Given the description of an element on the screen output the (x, y) to click on. 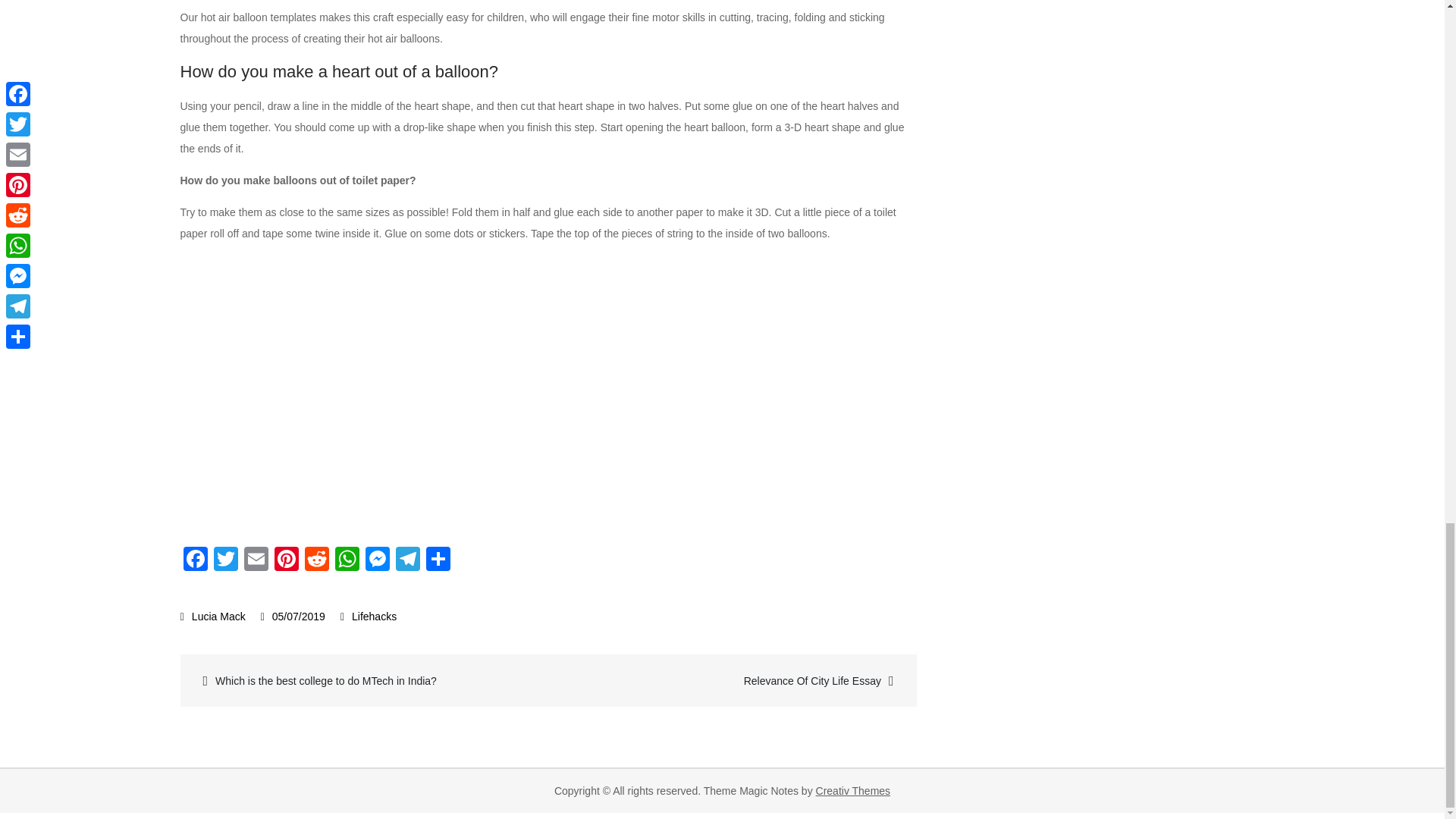
Lucia Mack (213, 616)
WhatsApp (346, 560)
Email (255, 560)
Messenger (377, 560)
Lifehacks (374, 616)
Reddit (316, 560)
Facebook (195, 560)
WhatsApp (346, 560)
Twitter (226, 560)
Creativ Themes (853, 790)
